Given the description of an element on the screen output the (x, y) to click on. 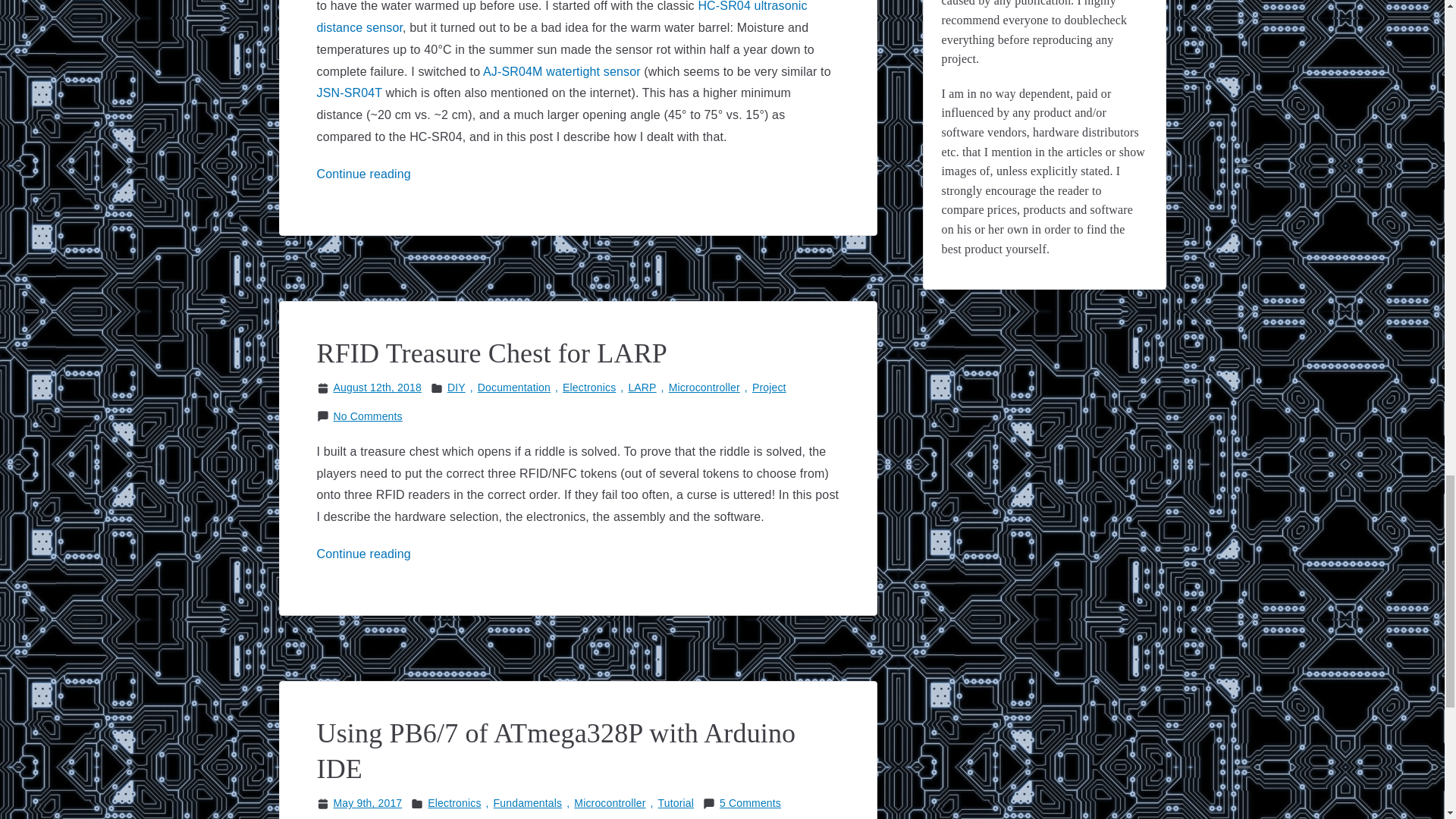
August 12th, 2018 (377, 387)
RFID Treasure Chest for LARP (492, 353)
AJ-SR04M watertight sensor (561, 71)
HC-SR04 ultrasonic distance sensor (562, 17)
JSN-SR04T (349, 92)
DIY (455, 387)
